Given the description of an element on the screen output the (x, y) to click on. 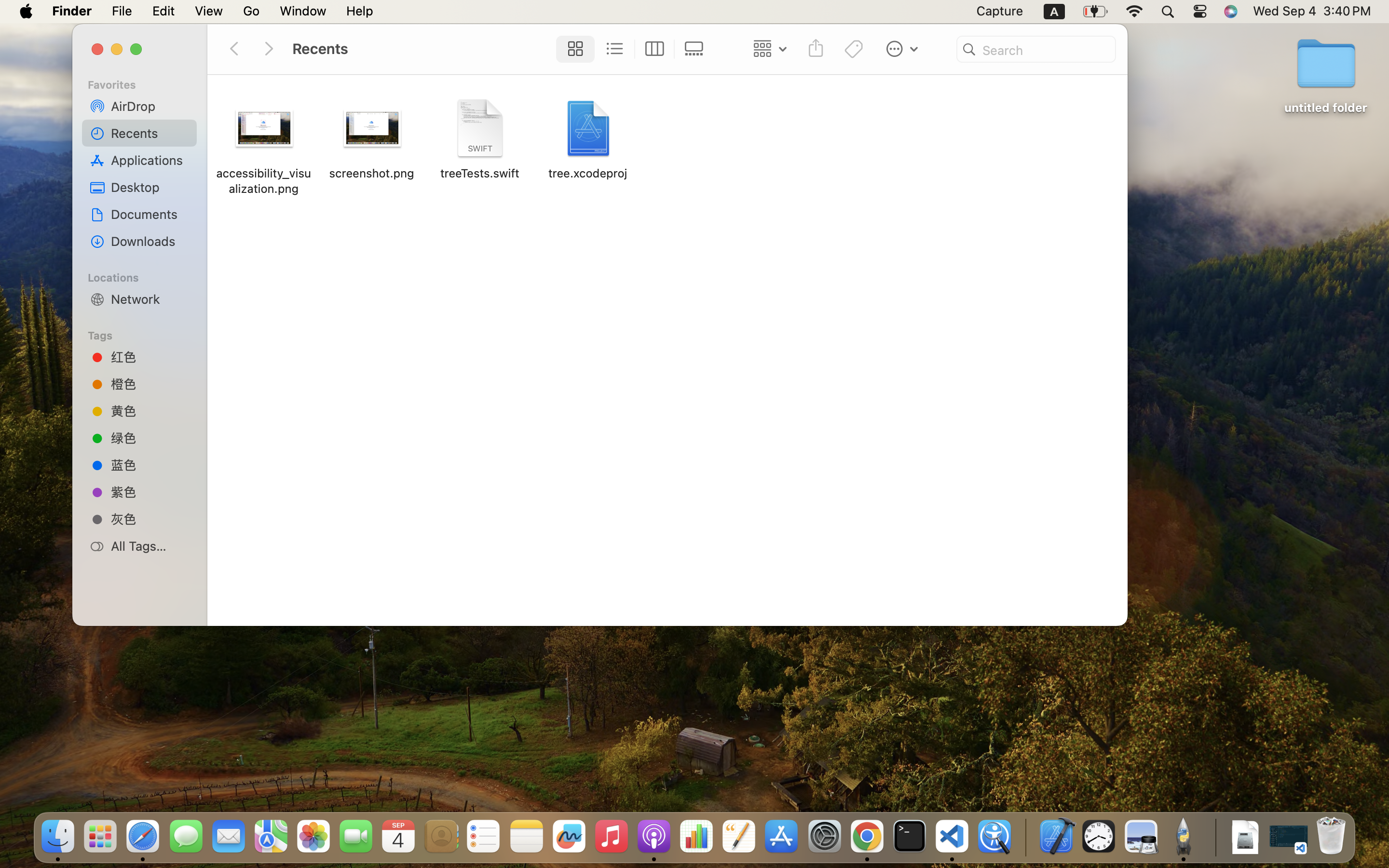
Downloads Element type: AXStaticText (149, 240)
灰色 Element type: AXStaticText (149, 518)
0.4285714328289032 Element type: AXDockItem (1024, 836)
Tags Element type: AXStaticText (144, 334)
黄色 Element type: AXStaticText (149, 410)
